Given the description of an element on the screen output the (x, y) to click on. 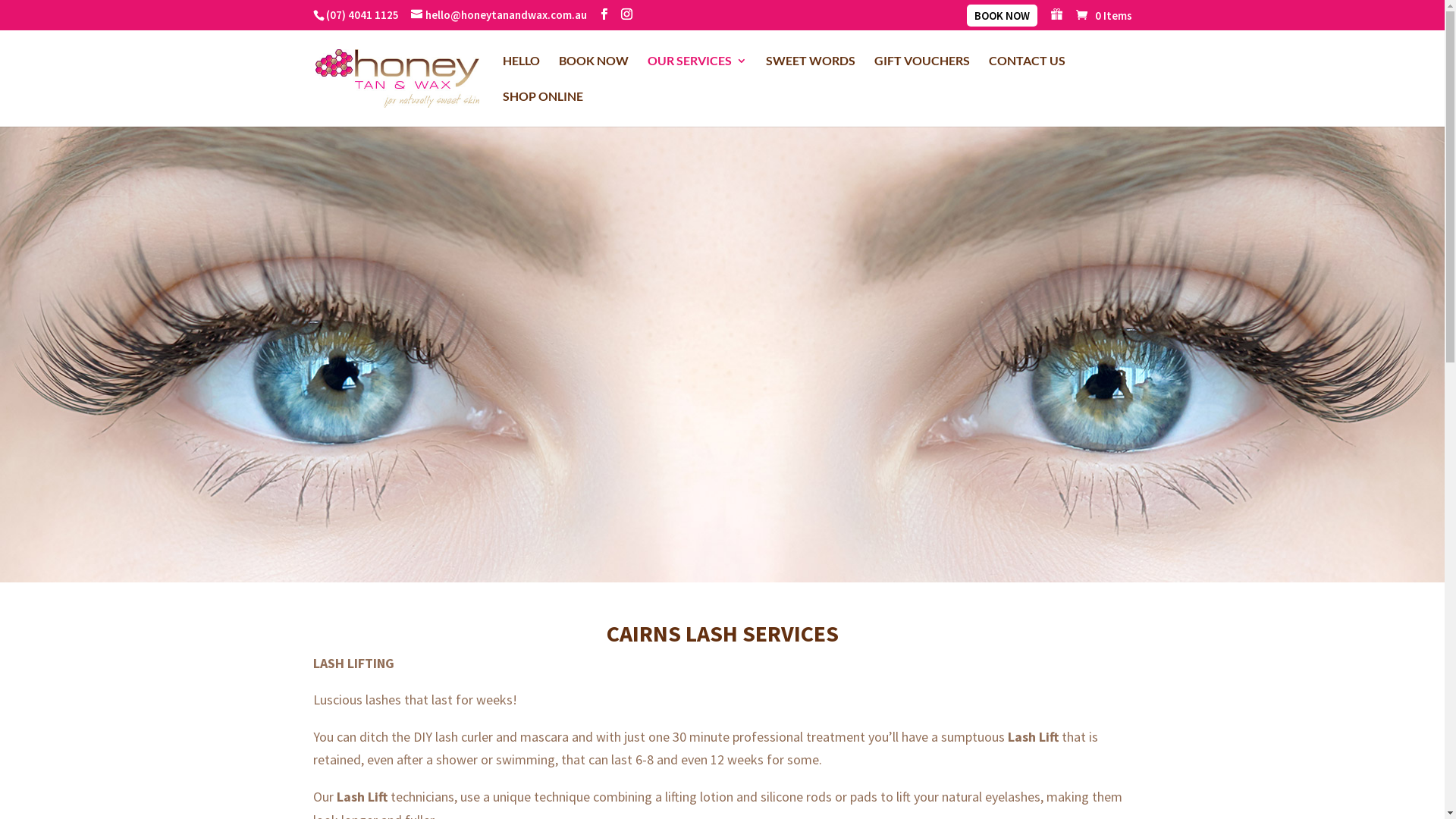
BOOK NOW Element type: text (1001, 19)
BOOK NOW Element type: text (592, 72)
0 Items Element type: text (1102, 15)
HELLO Element type: text (520, 72)
CONTACT US Element type: text (1026, 72)
OUR SERVICES Element type: text (696, 72)
SHOP ONLINE Element type: text (542, 108)
SWEET WORDS Element type: text (810, 72)
GIFT VOUCHERS Element type: text (921, 72)
hello@honeytanandwax.com.au Element type: text (498, 14)
